Given the description of an element on the screen output the (x, y) to click on. 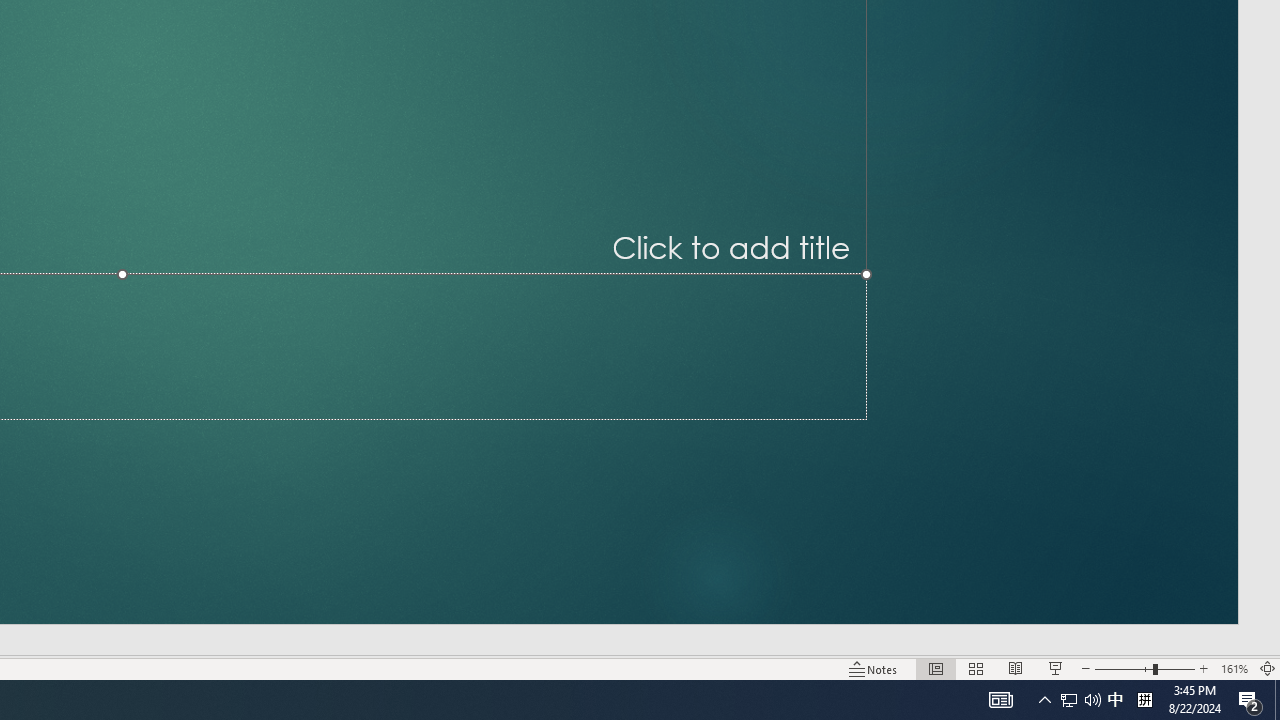
Zoom 161% (1234, 668)
